Given the description of an element on the screen output the (x, y) to click on. 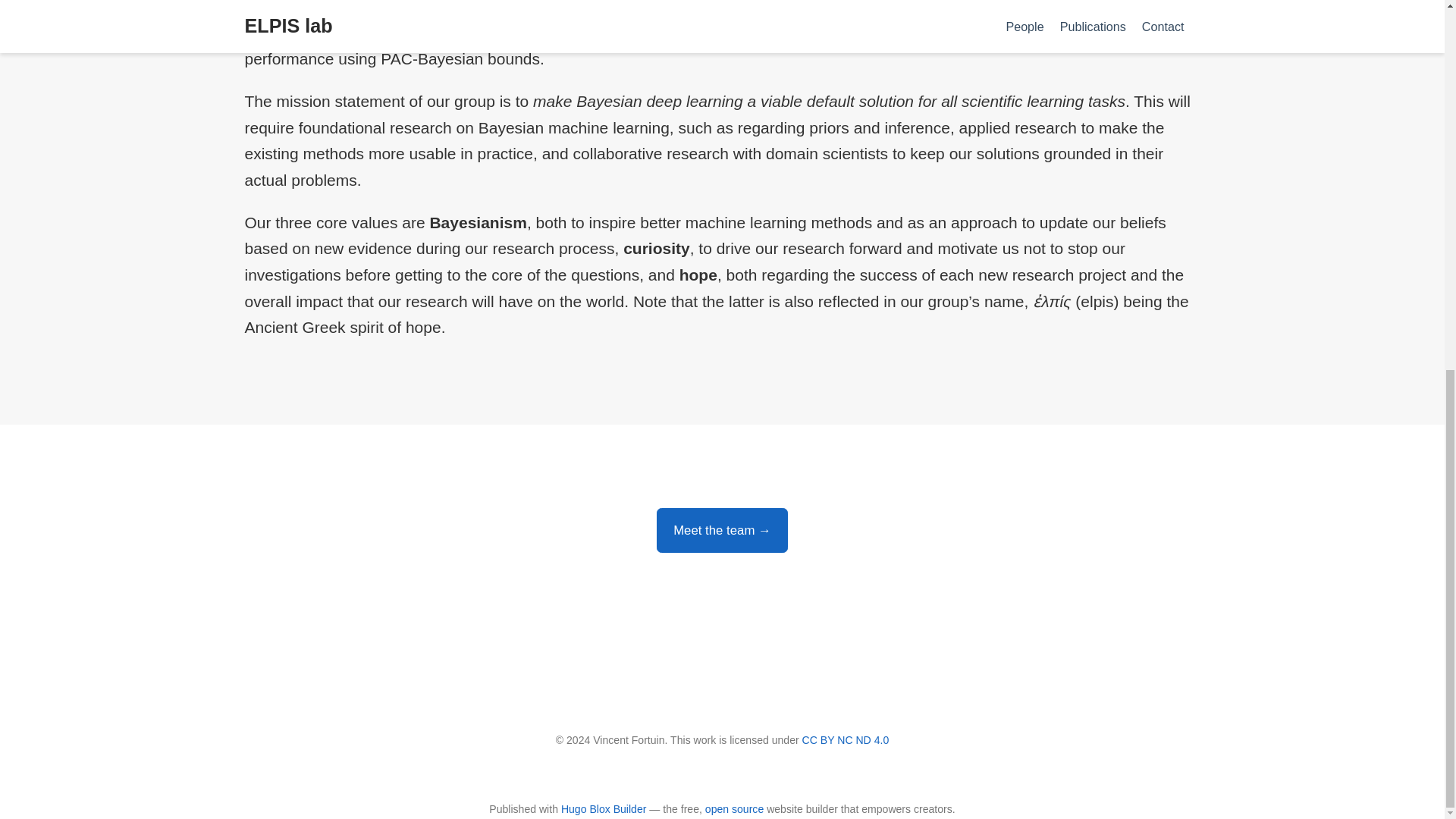
open source (733, 808)
Hugo Blox Builder (603, 808)
CC BY NC ND 4.0 (845, 739)
